Given the description of an element on the screen output the (x, y) to click on. 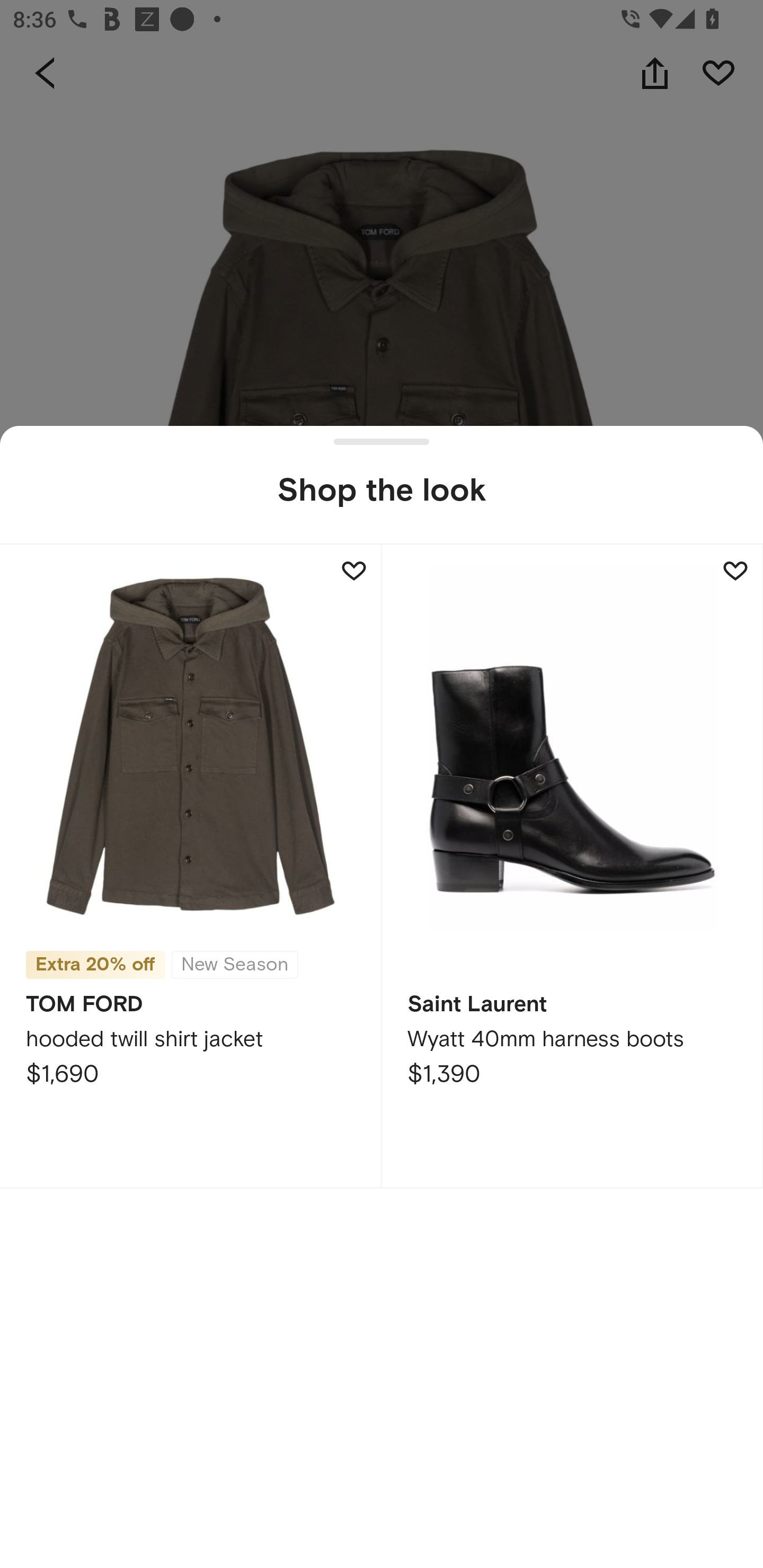
Saint Laurent Wyatt 40mm harness boots $1,390 (572, 865)
Extra 20% off (95, 964)
